Given the description of an element on the screen output the (x, y) to click on. 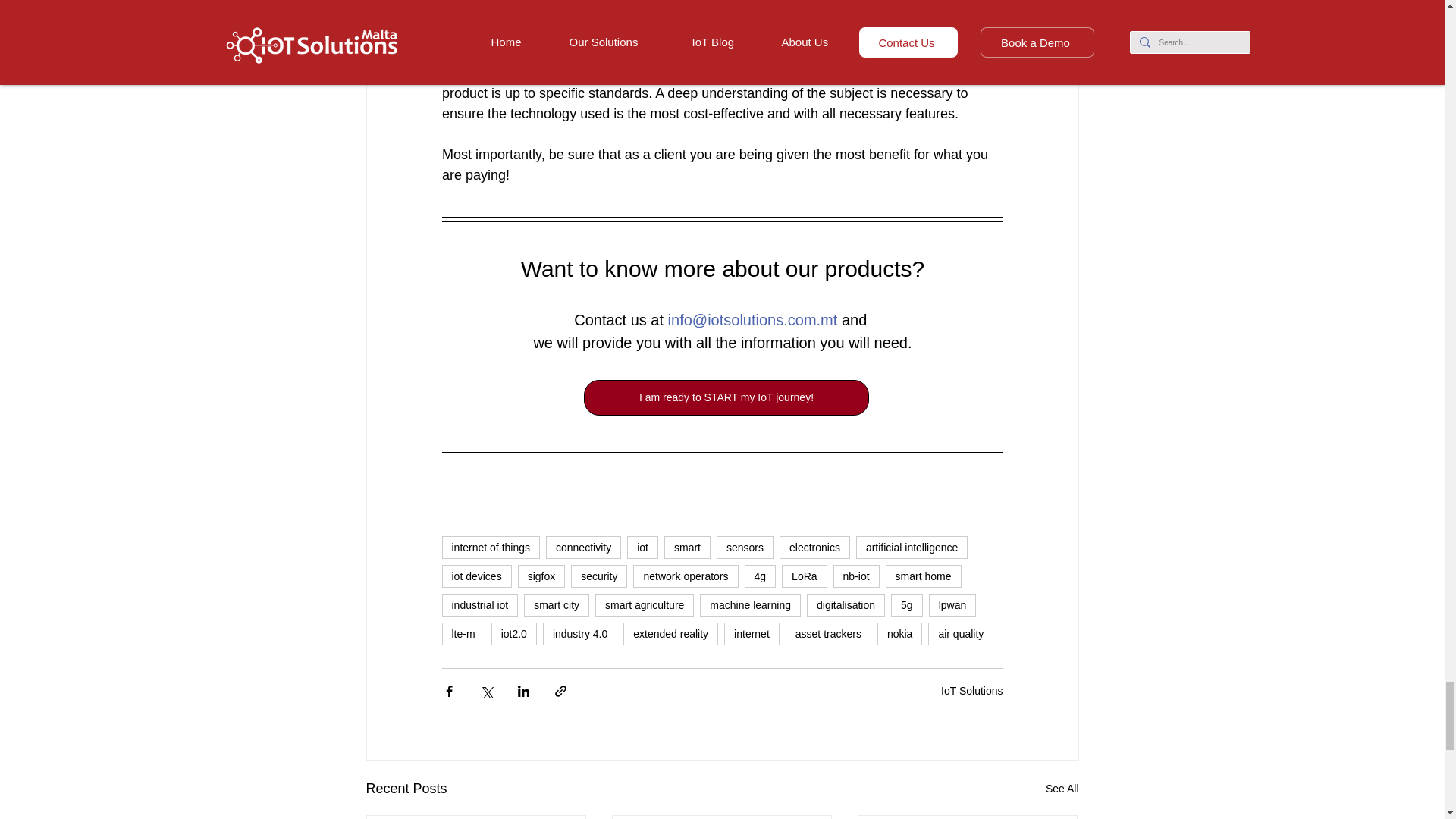
internet of things (490, 547)
connectivity (583, 547)
I am ready to START my IoT journey! (726, 397)
